Given the description of an element on the screen output the (x, y) to click on. 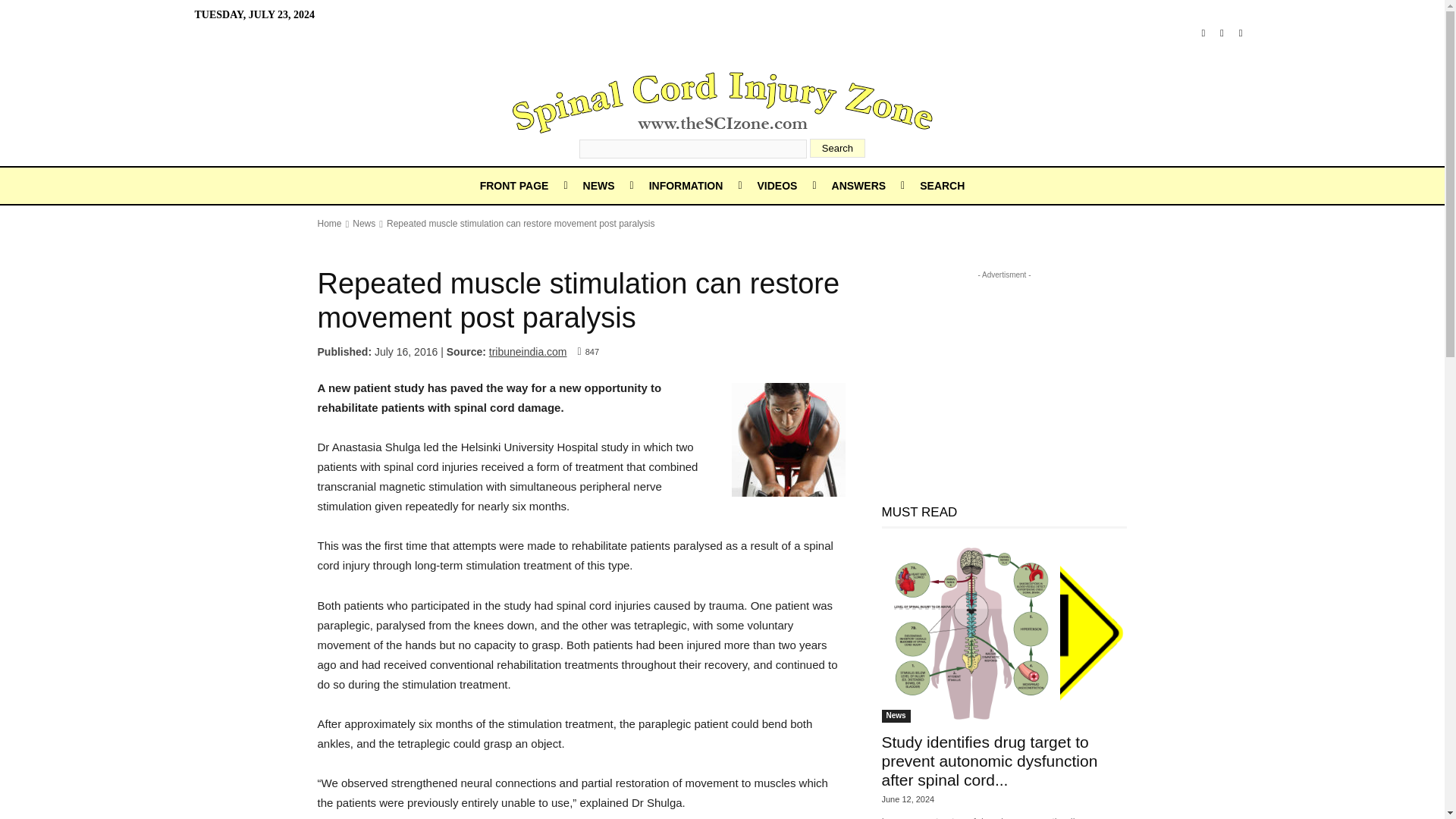
View all posts in News (363, 223)
Search (836, 148)
SEARCH (941, 185)
tribuneindia.com (528, 351)
ANSWERS (858, 185)
Facebook (1202, 33)
RSS (1221, 33)
Twitter (1240, 33)
NEWS (598, 185)
Search (836, 148)
INFORMATION (685, 185)
Home (328, 223)
The Spinal Cord Injury Zone (722, 102)
